Given the description of an element on the screen output the (x, y) to click on. 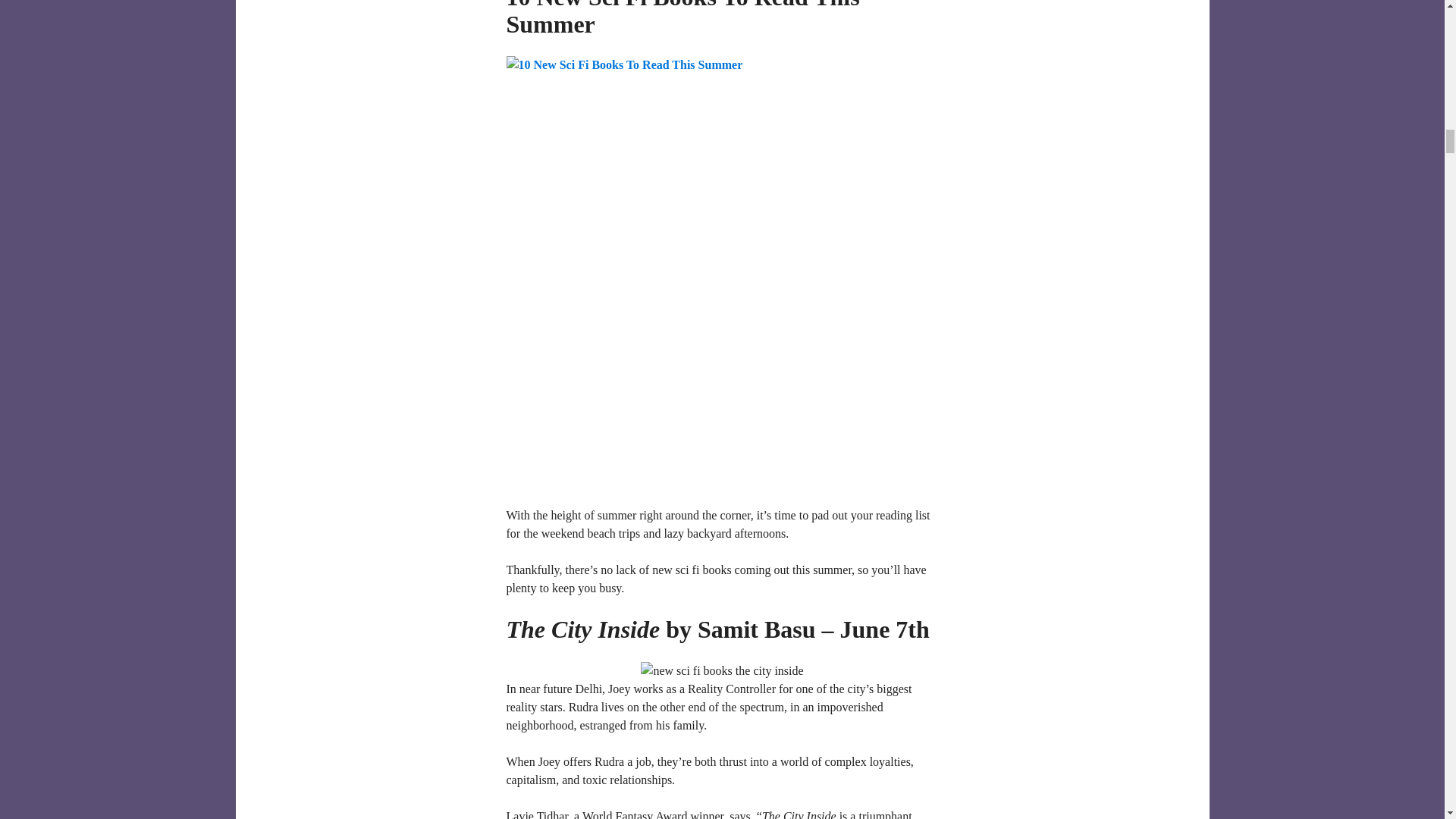
10 New Sci Fi Books To Read This Summer (683, 18)
